Given the description of an element on the screen output the (x, y) to click on. 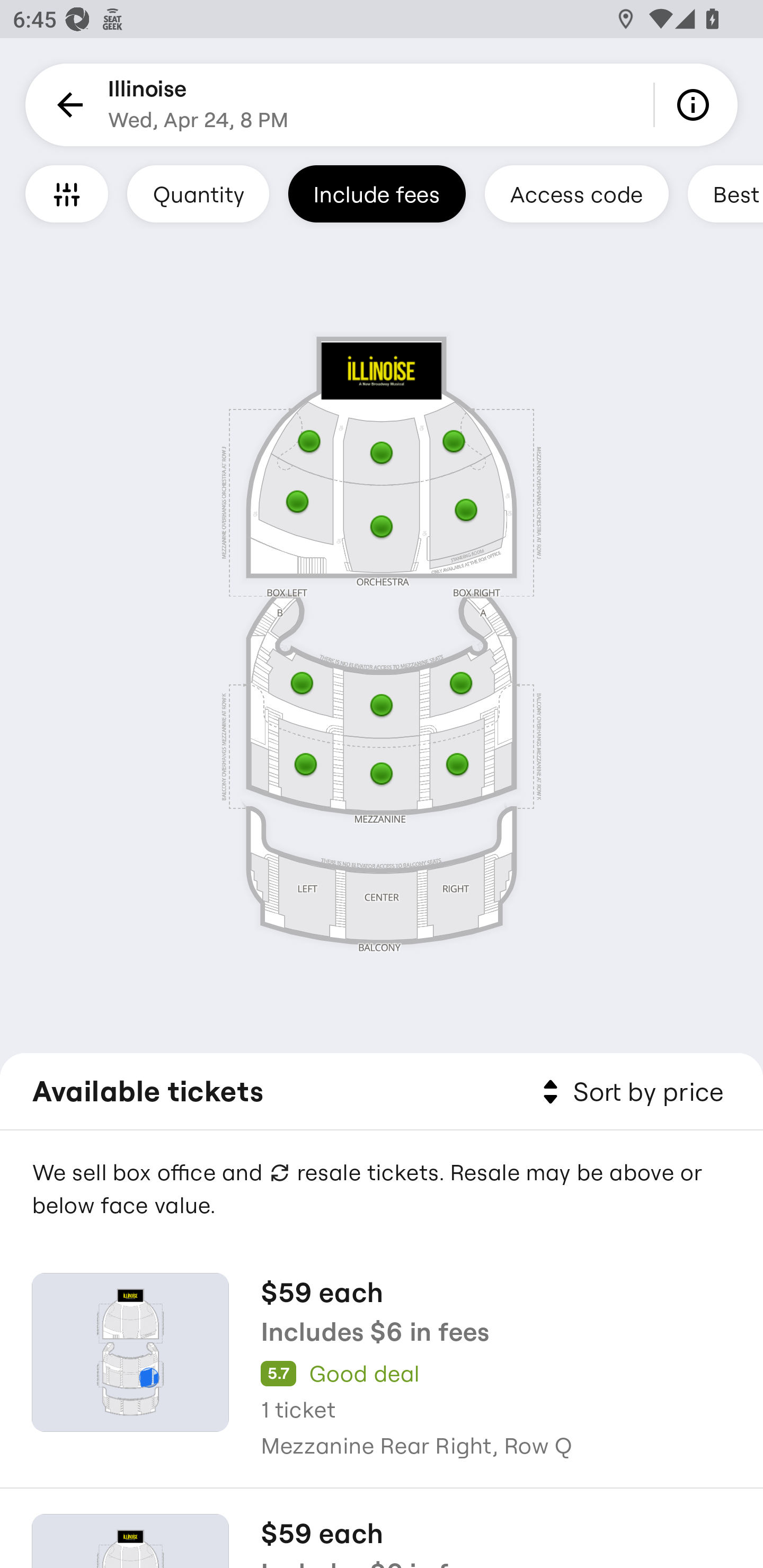
Back (66, 104)
Illinoise Wed, Apr 24, 8 PM (198, 104)
Info (695, 104)
Filters and Accessible Seating (66, 193)
Quantity (198, 193)
Include fees (376, 193)
Access code (576, 193)
Best seats (725, 193)
Sort by price (629, 1091)
